Given the description of an element on the screen output the (x, y) to click on. 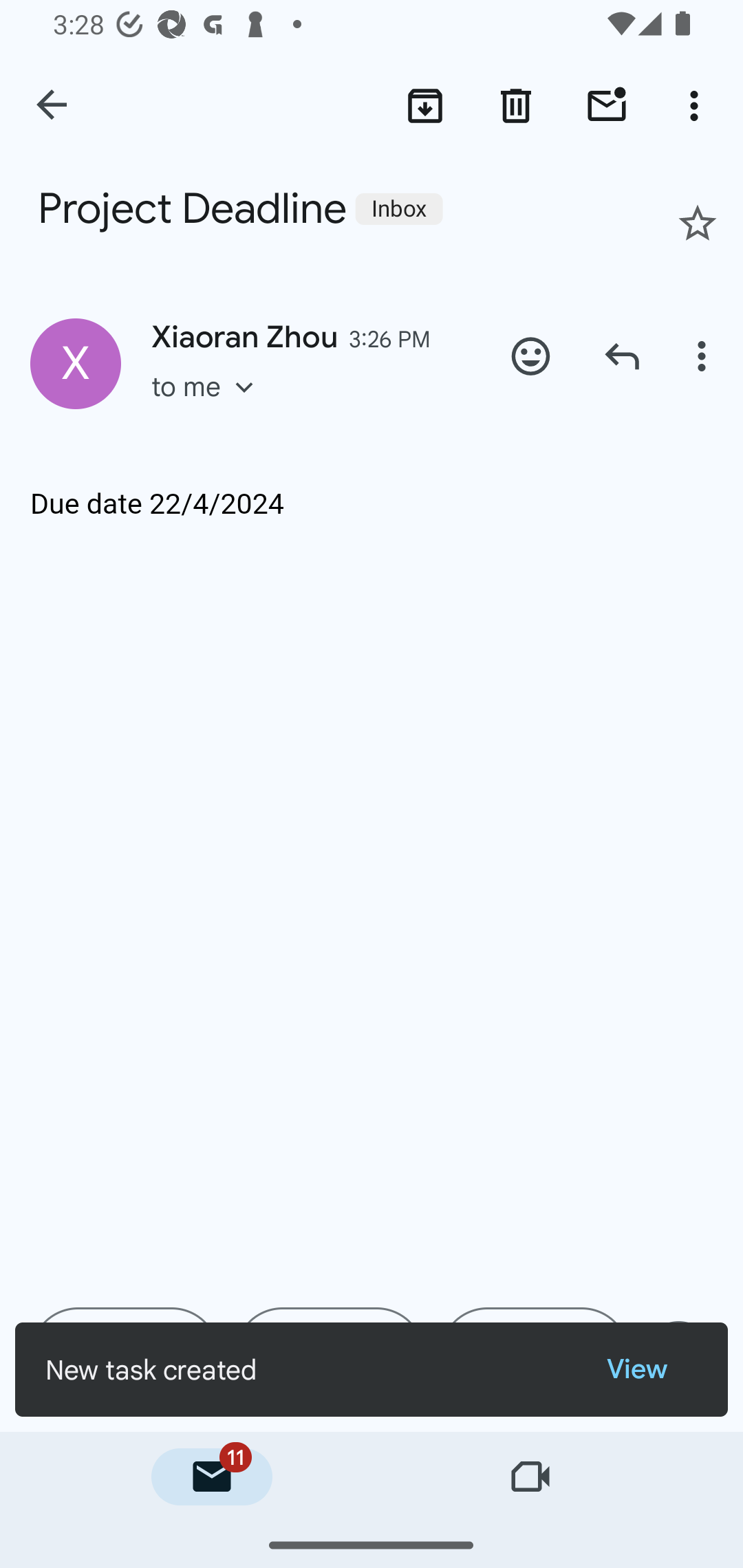
Navigate up (53, 105)
Archive (424, 105)
Delete (515, 105)
Mark unread (606, 105)
More options (697, 105)
Add star (697, 223)
Add emoji reaction (530, 355)
Reply (621, 355)
More options (705, 355)
Show contact information for Xiaoran Zhou (75, 363)
to me (208, 405)
View (652, 1369)
Meet (530, 1476)
